Given the description of an element on the screen output the (x, y) to click on. 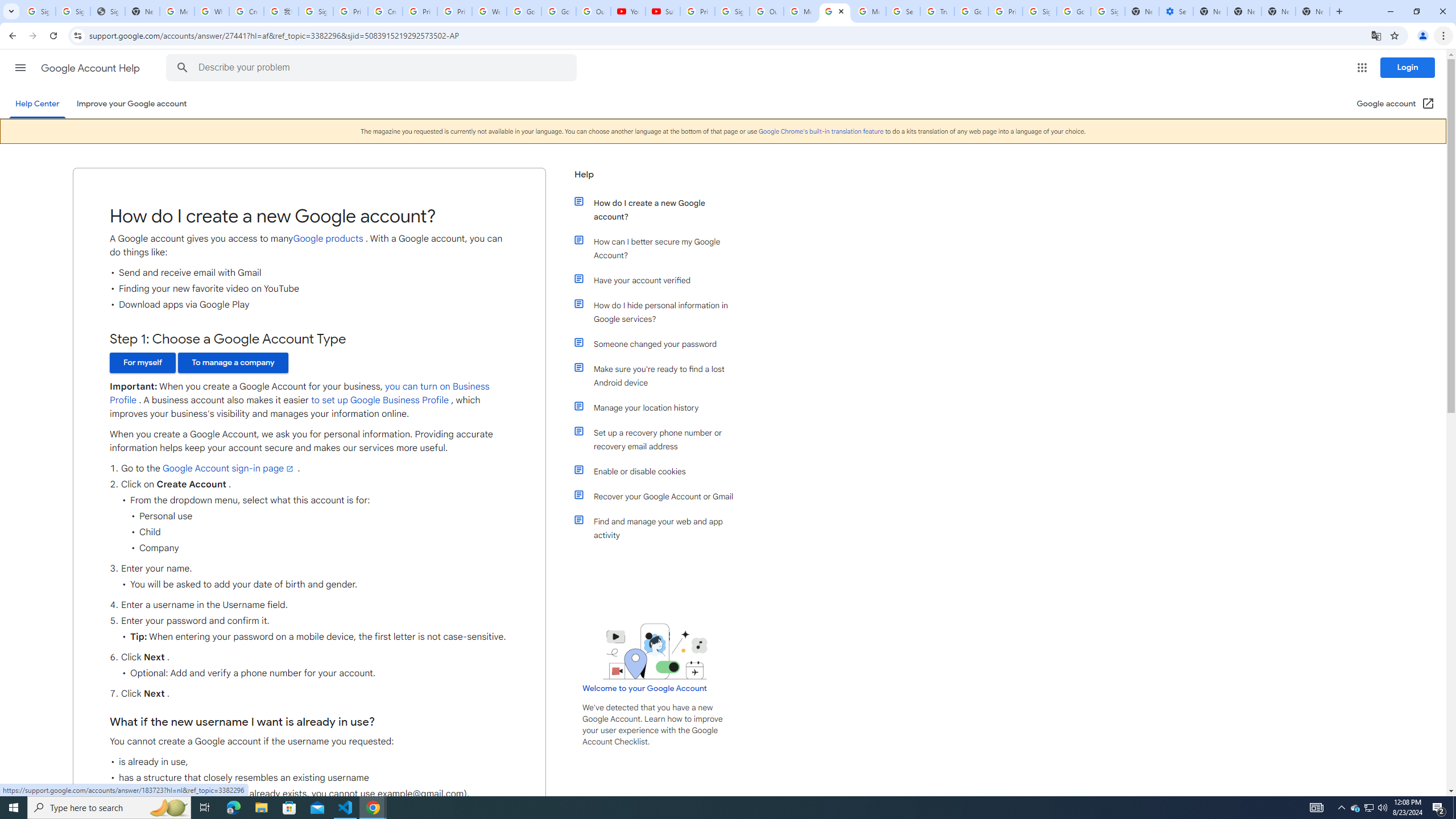
Improve your Google account (131, 103)
Sign in - Google Accounts (1039, 11)
Google Account (557, 11)
Sign in - Google Accounts (315, 11)
to set up Google Business Profile (379, 400)
Google Account (Opens in new window) (1395, 103)
Welcome to your Google Account (644, 688)
Make sure you're ready to find a lost Android device (661, 375)
Sign in - Google Accounts (1107, 11)
